Given the description of an element on the screen output the (x, y) to click on. 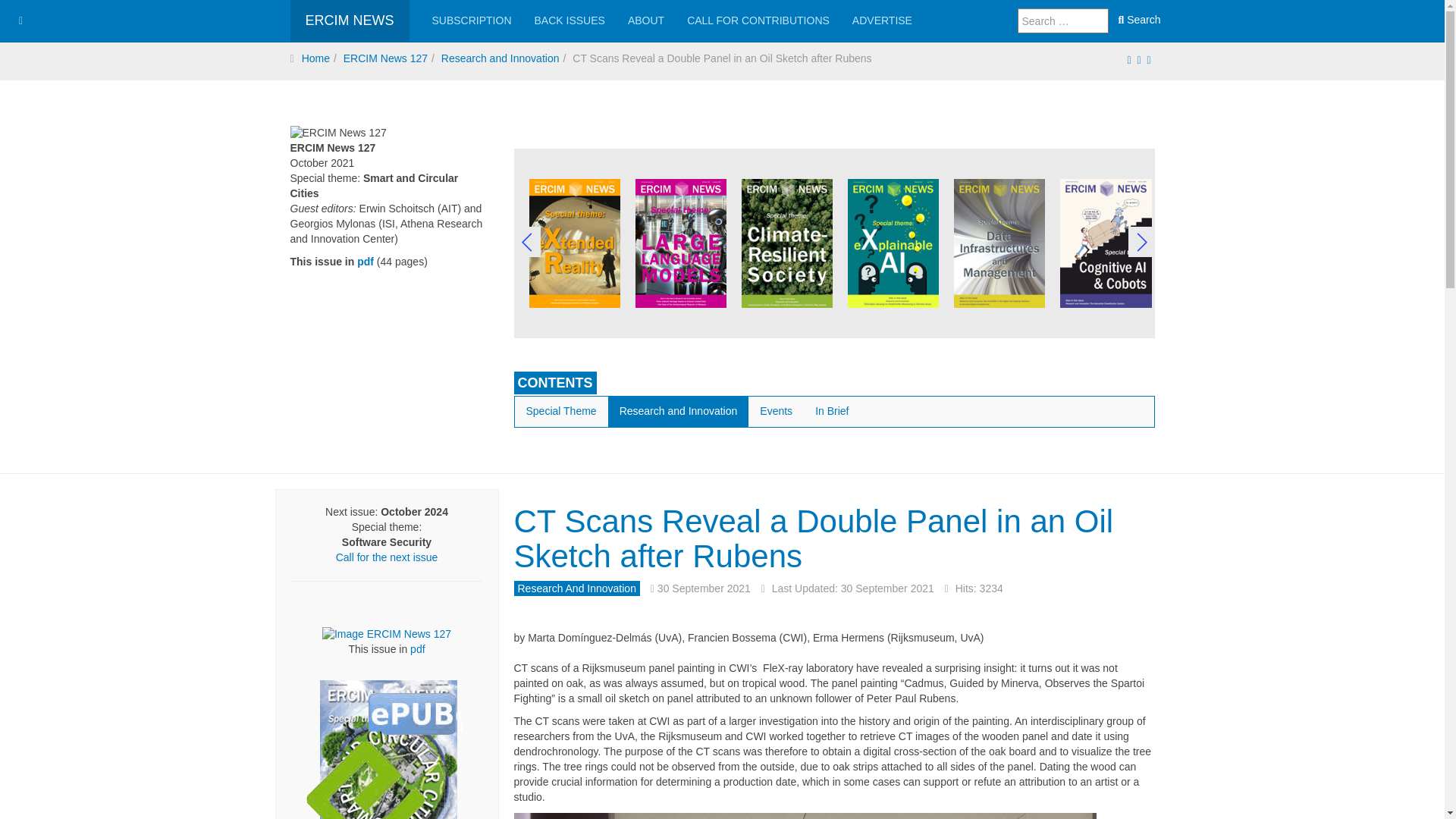
ERCIM News 127 pdf (386, 633)
Published:  (700, 589)
ERCIM News 127 epub (387, 776)
Category:  (576, 589)
ERCIM News 127 (337, 133)
ERCIM News 127 (417, 648)
ERCIM News 127 epub (387, 749)
ERCIM NEWS (349, 20)
ERCIM News 127 (365, 261)
